Given the description of an element on the screen output the (x, y) to click on. 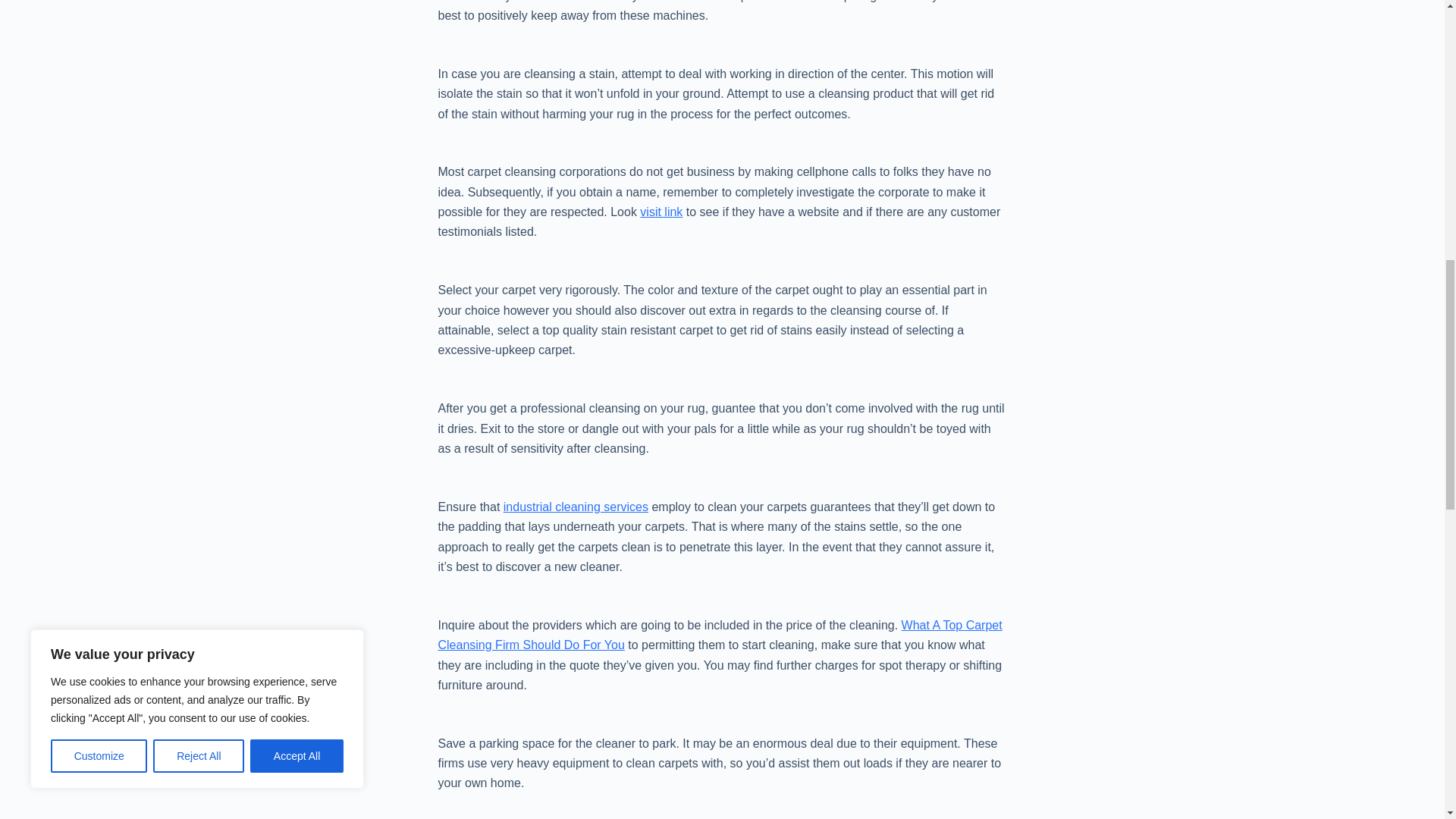
industrial cleaning services (575, 506)
visit link (661, 211)
What A Top Carpet Cleansing Firm Should Do For You (720, 635)
